Given the description of an element on the screen output the (x, y) to click on. 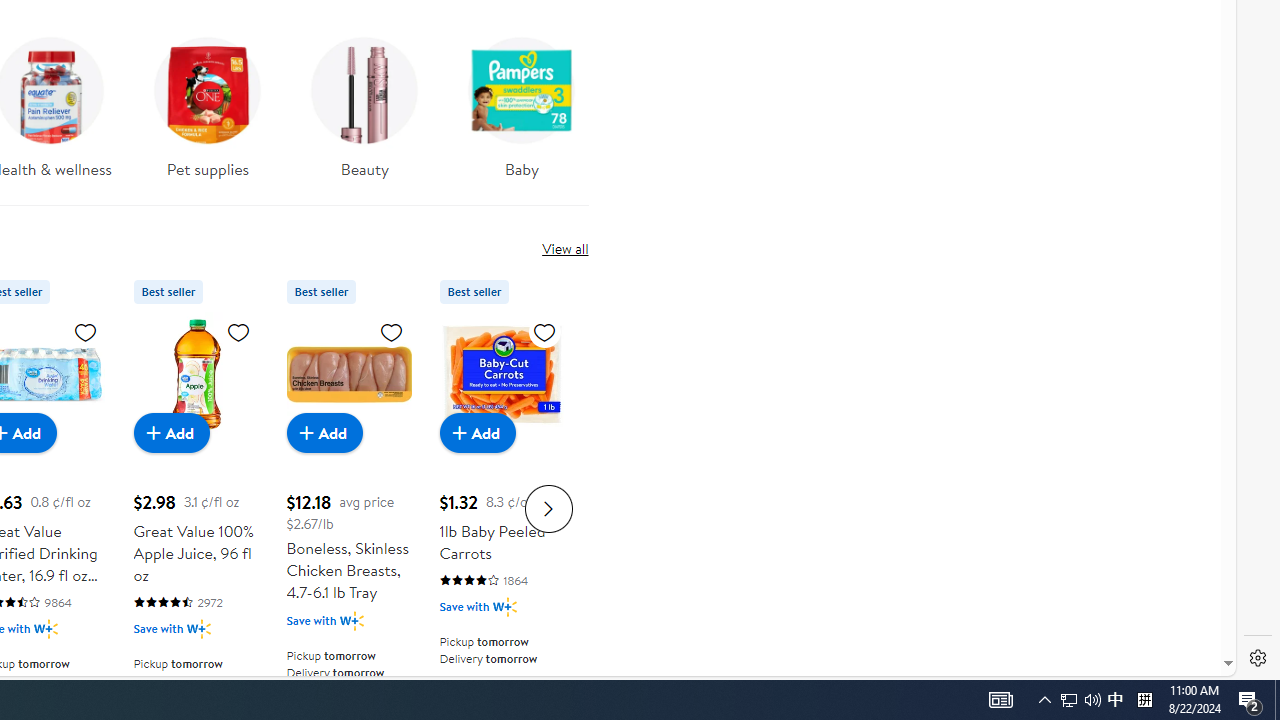
View all (564, 248)
Walmart Plus (504, 606)
Beauty (365, 101)
Pet supplies (207, 114)
Pet supplies (207, 101)
Sign in to add to Favorites list, 1lb Baby Peeled Carrots (543, 331)
Add to cart - 1lb Baby Peeled Carrots (478, 431)
Beauty (364, 114)
Baby (521, 114)
1lb Baby Peeled Carrots (501, 374)
Great Value 100% Apple Juice, 96 fl oz (195, 374)
